Given the description of an element on the screen output the (x, y) to click on. 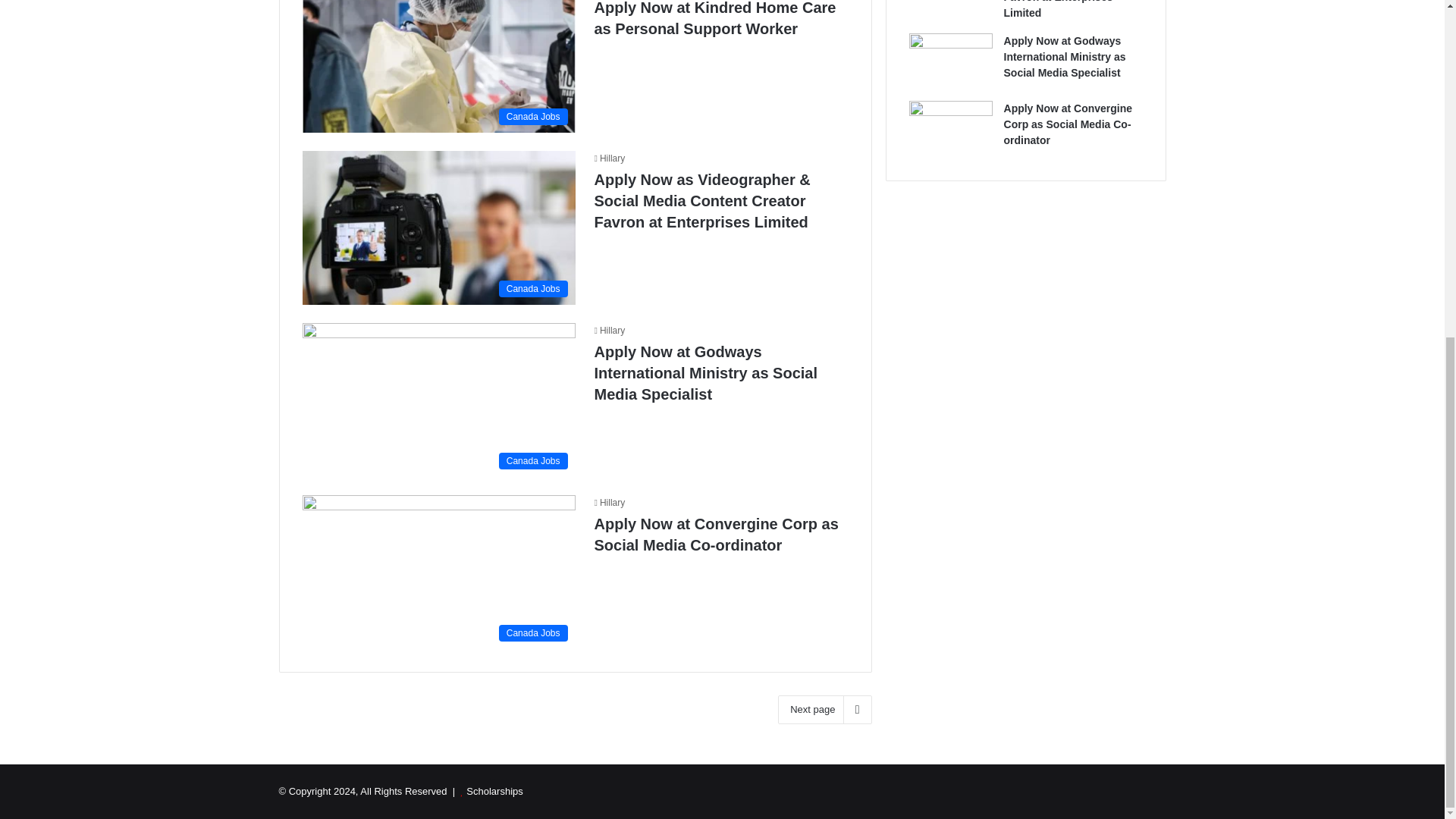
Hillary (610, 502)
Hillary (610, 502)
Next page (823, 709)
Hillary (610, 330)
Canada Jobs (438, 399)
Apply Now at Convergine Corp as Social Media Co-ordinator (1068, 124)
Apply Now at Convergine Corp as Social Media Co-ordinator (716, 534)
Scholarships (493, 790)
